Given the description of an element on the screen output the (x, y) to click on. 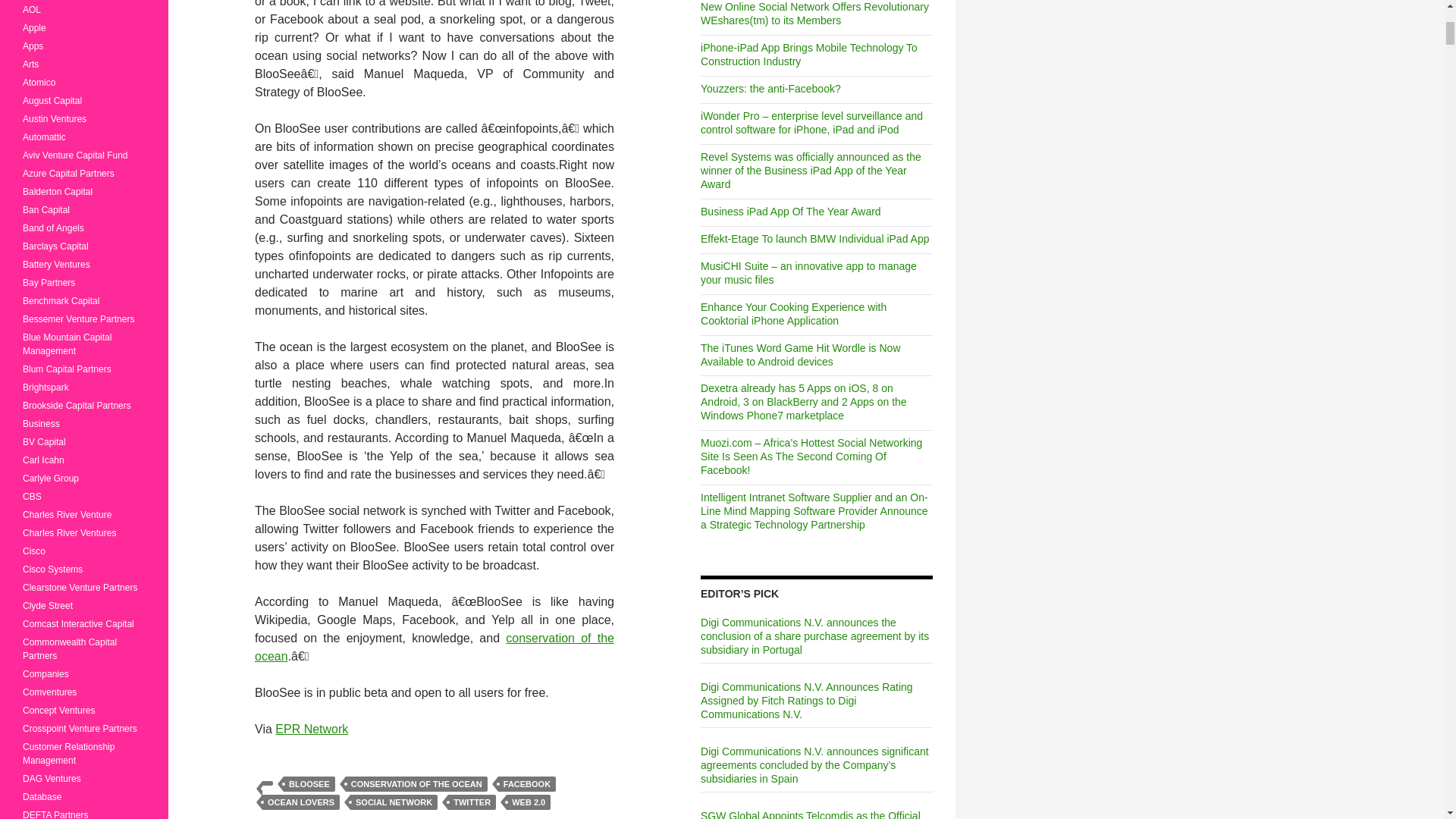
SOCIAL NETWORK (394, 801)
CONSERVATION OF THE OCEAN (416, 783)
FACEBOOK (526, 783)
WEB 2.0 (528, 801)
BLOOSEE (308, 783)
conservation of the ocean (434, 646)
TWITTER (472, 801)
EPR Network (311, 728)
OCEAN LOVERS (300, 801)
